Given the description of an element on the screen output the (x, y) to click on. 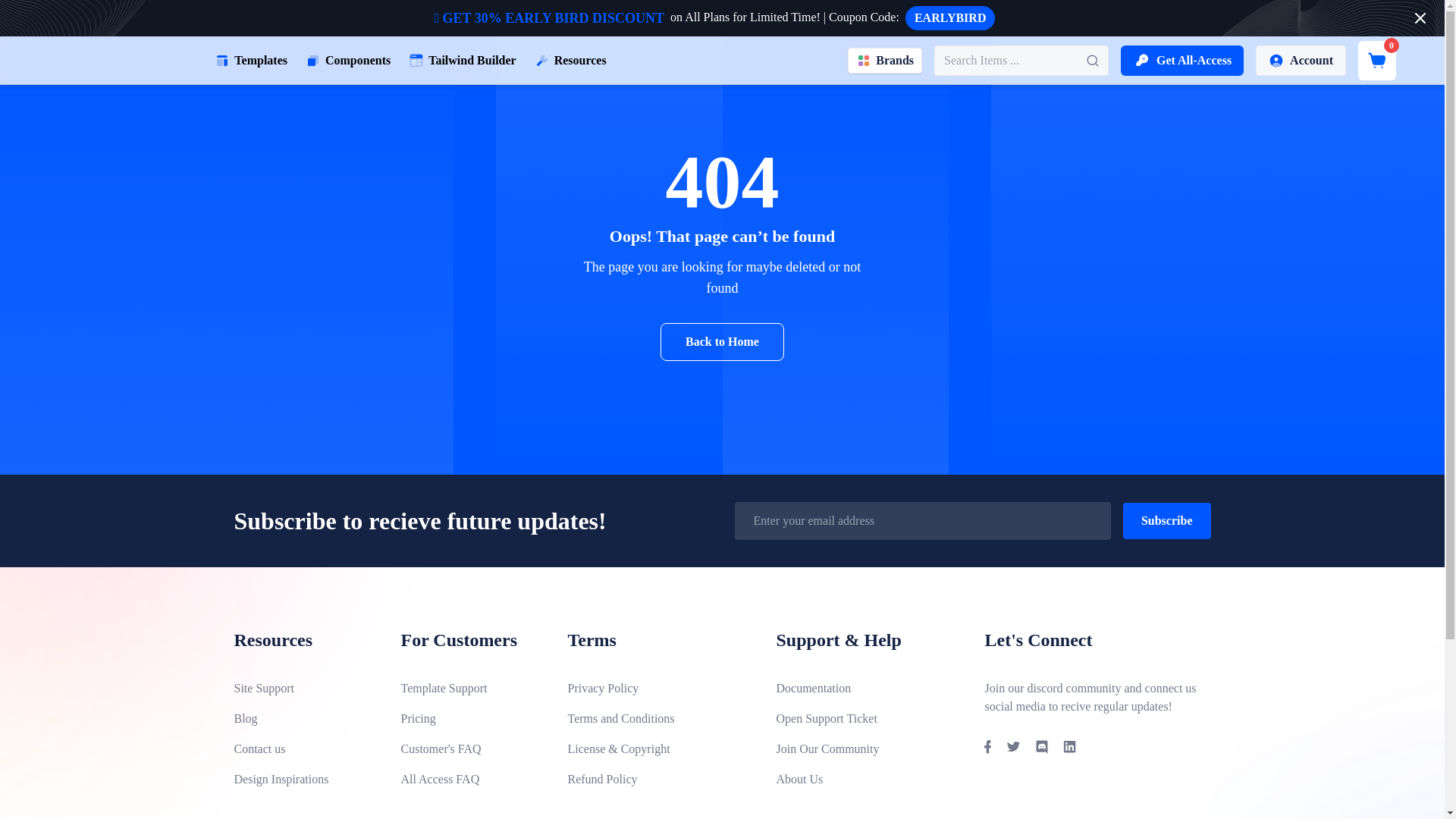
Refund Policy (659, 779)
Site Support (303, 688)
Templates (251, 60)
0 (1377, 60)
Pricing (471, 719)
Account (1300, 60)
Privacy Policy (659, 688)
Blog (303, 719)
Get All-Access (1182, 60)
Subscribe (1166, 520)
